Given the description of an element on the screen output the (x, y) to click on. 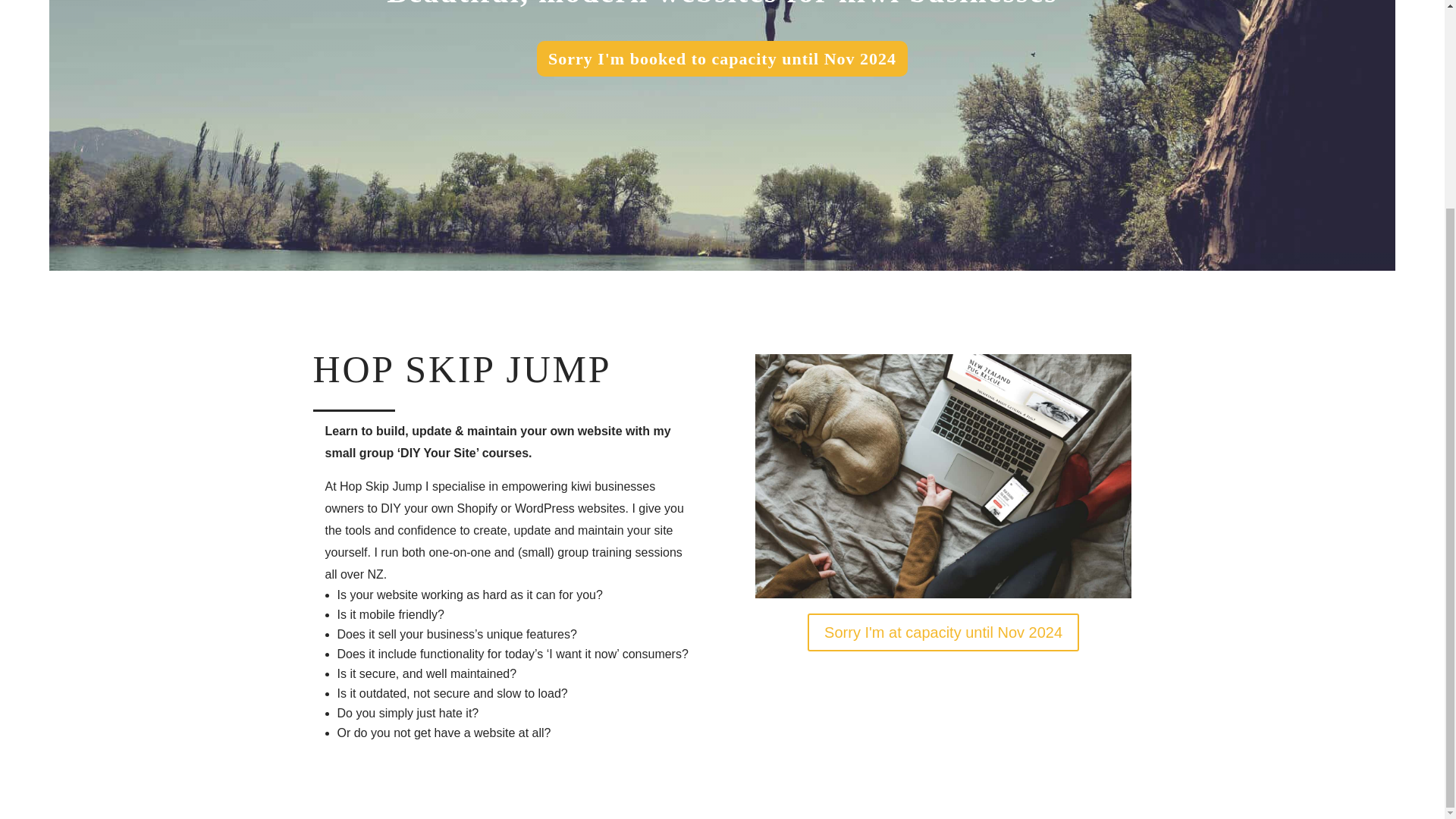
Hop Skip Jump Portfolio nzpugrescue (943, 475)
Sorry I'm booked to capacity until Nov 2024 (722, 58)
Sorry I'm at capacity until Nov 2024 (943, 632)
